Given the description of an element on the screen output the (x, y) to click on. 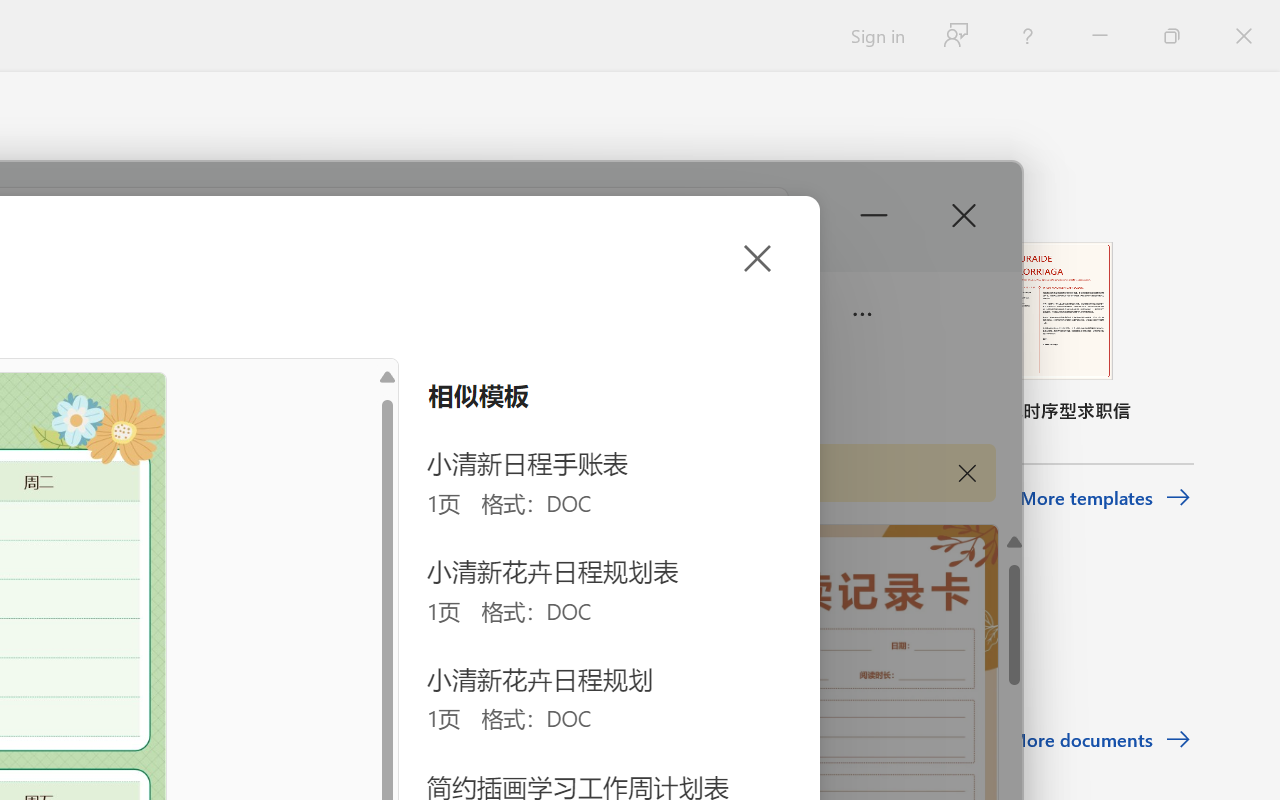
Sign in (875, 35)
